Given the description of an element on the screen output the (x, y) to click on. 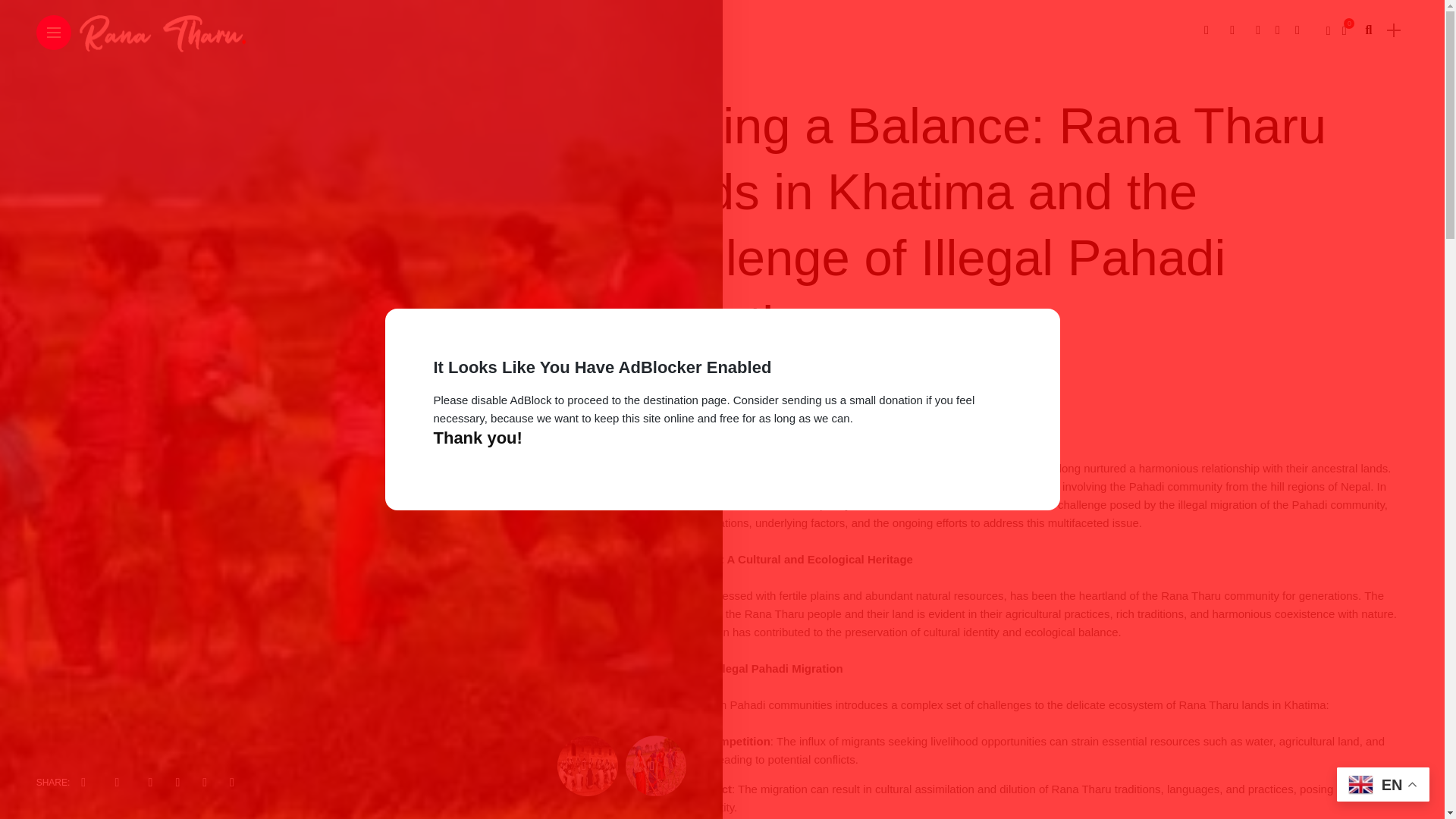
Posts by Himanshu Rana (683, 390)
